Given the description of an element on the screen output the (x, y) to click on. 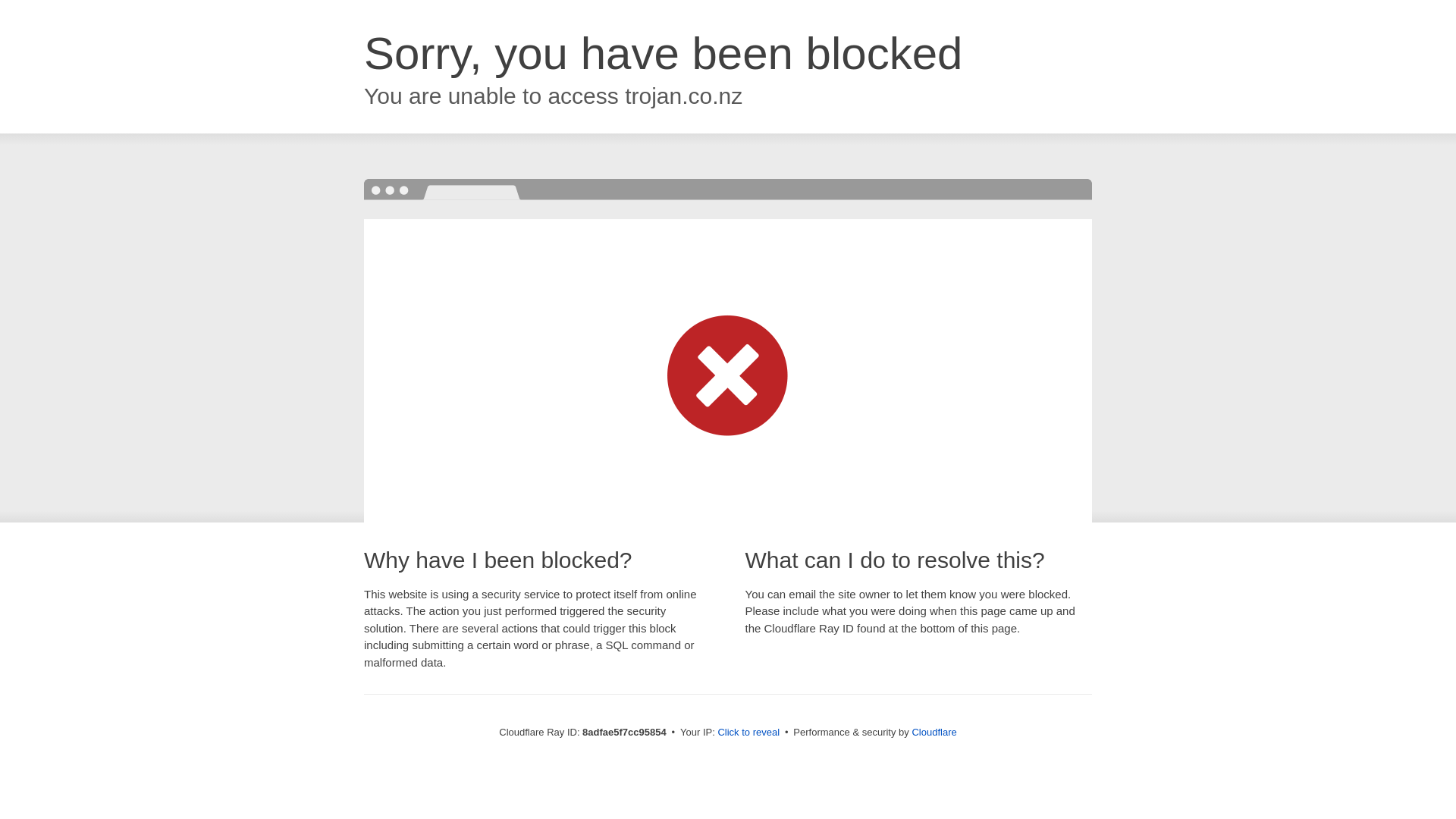
Cloudflare (933, 731)
Click to reveal (747, 732)
